Given the description of an element on the screen output the (x, y) to click on. 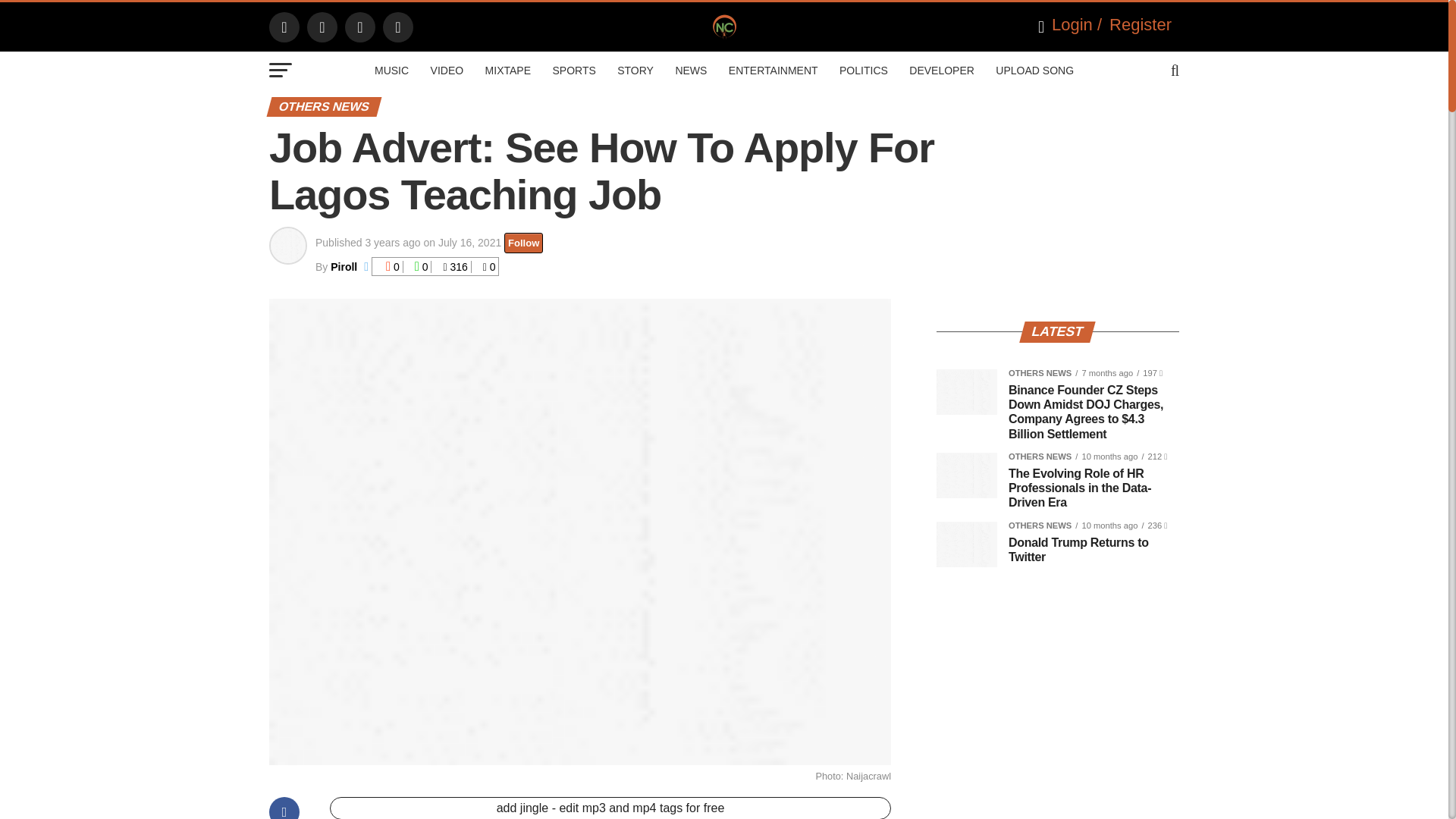
Posts by Piroll (343, 266)
